Given the description of an element on the screen output the (x, y) to click on. 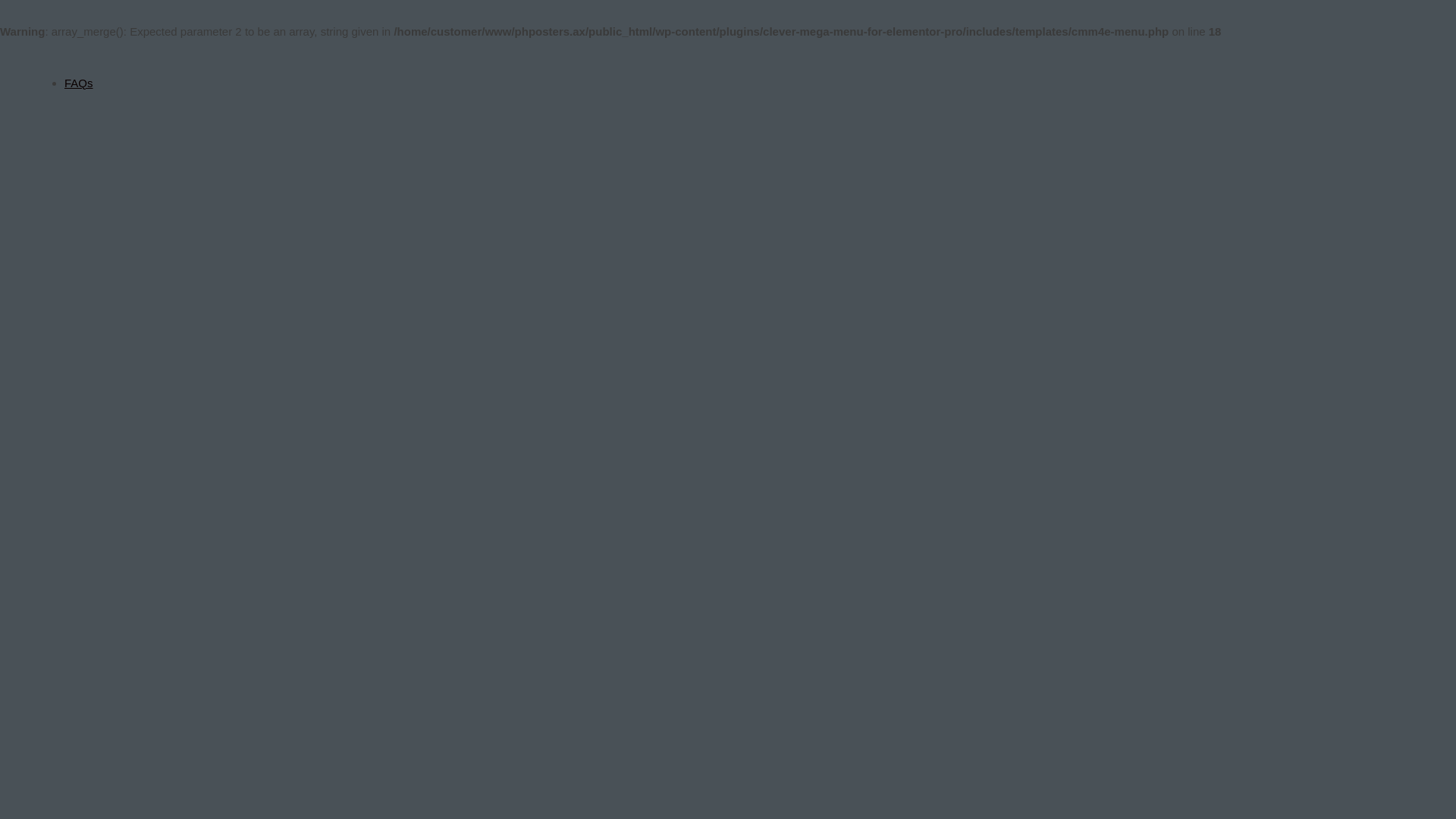
FAQs Element type: text (78, 82)
